Given the description of an element on the screen output the (x, y) to click on. 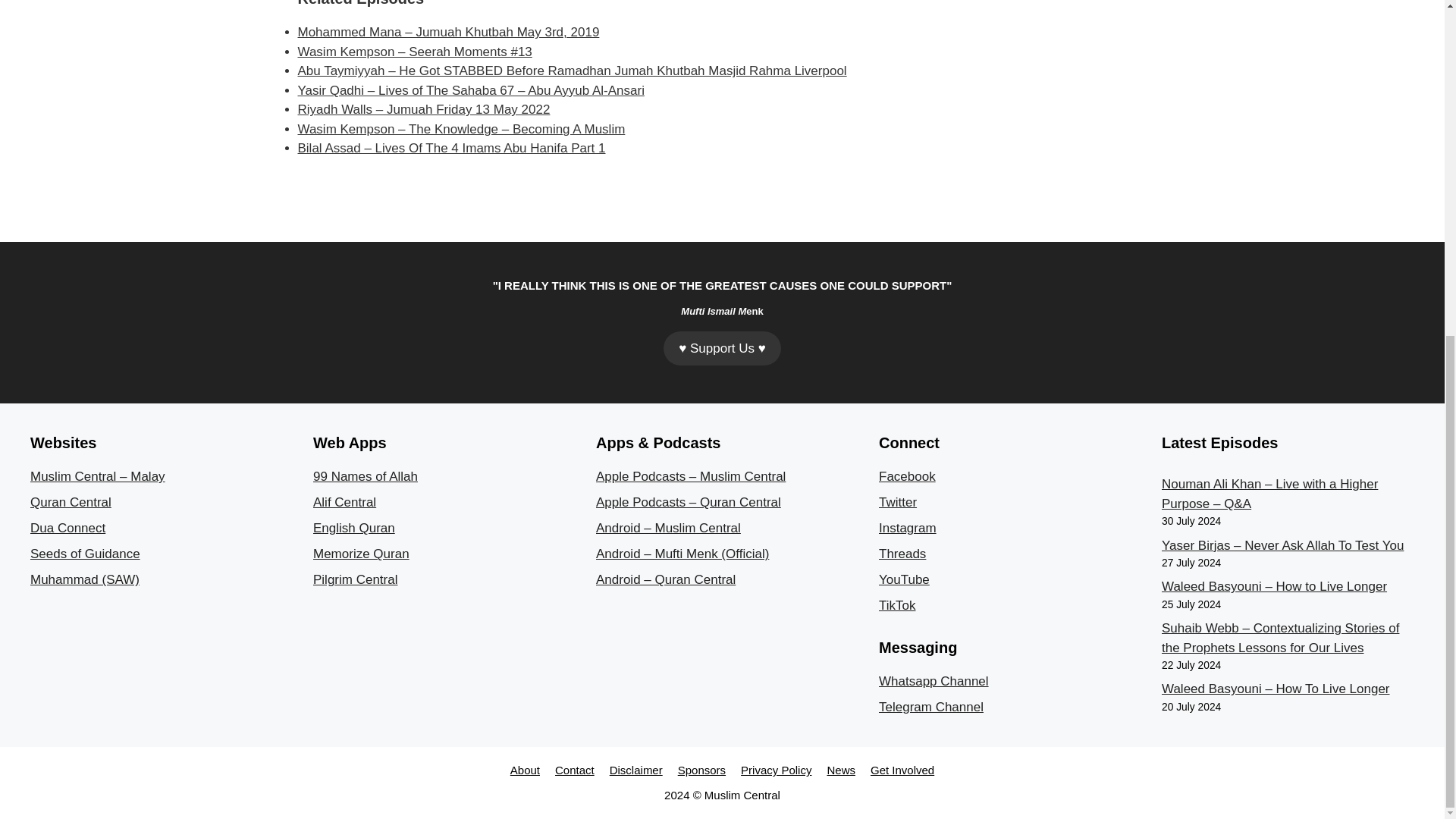
Seeds of Guidance (84, 554)
English Quran (353, 527)
Quran Central (71, 502)
Dua Connect (67, 527)
Alif Central (344, 502)
Memorize Quran (361, 554)
Pilgrim Central (355, 579)
99 Names of Allah (365, 476)
